Given the description of an element on the screen output the (x, y) to click on. 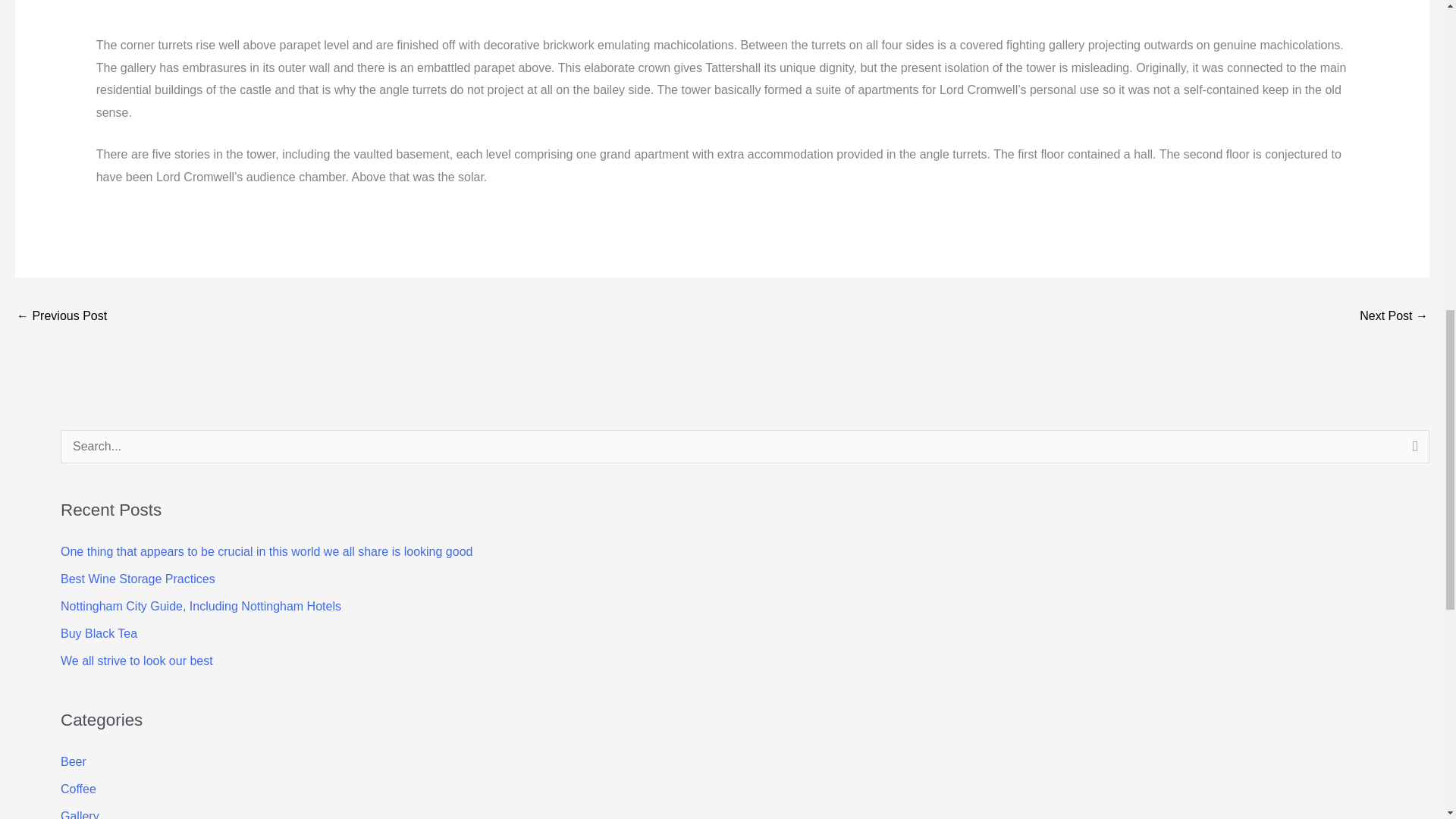
Coffee (78, 788)
We all strive to look our best (136, 660)
Gallery (80, 814)
Beer (73, 761)
Best Wine Storage Practices (138, 578)
Nottingham City Guide, Including Nottingham Hotels (200, 605)
Buy Black Tea (98, 633)
Loose Leaf Black Tea (1393, 317)
Advertisement (338, 15)
